Given the description of an element on the screen output the (x, y) to click on. 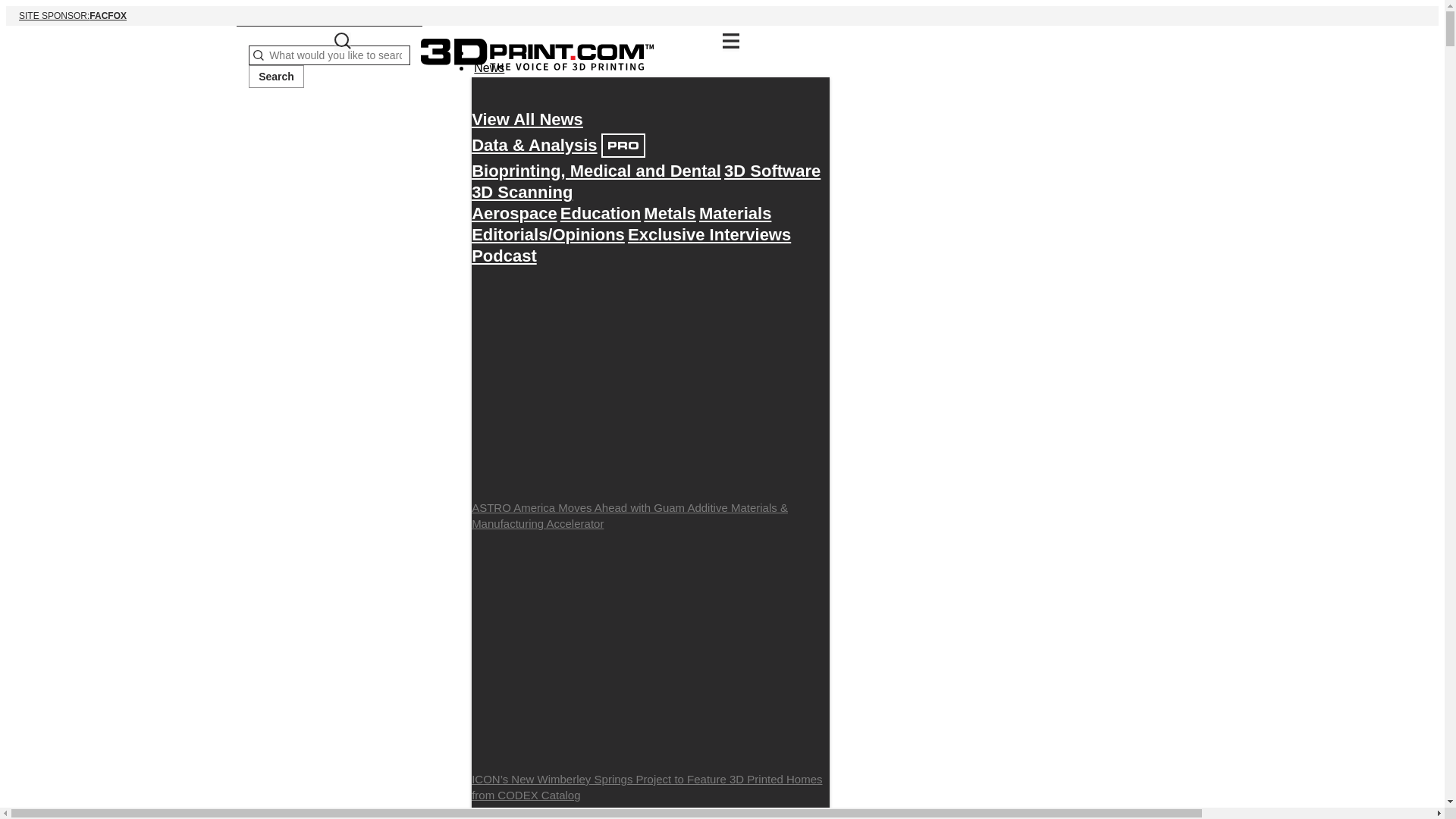
Bioprinting, Medical and Dental (595, 170)
Education (600, 213)
Exclusive Interviews (708, 234)
View All News (527, 119)
Aerospace (514, 213)
Materials (734, 213)
Metals (669, 213)
3D Software (772, 170)
Podcast (721, 15)
Search (504, 255)
3D Scanning (276, 76)
News (521, 191)
